Given the description of an element on the screen output the (x, y) to click on. 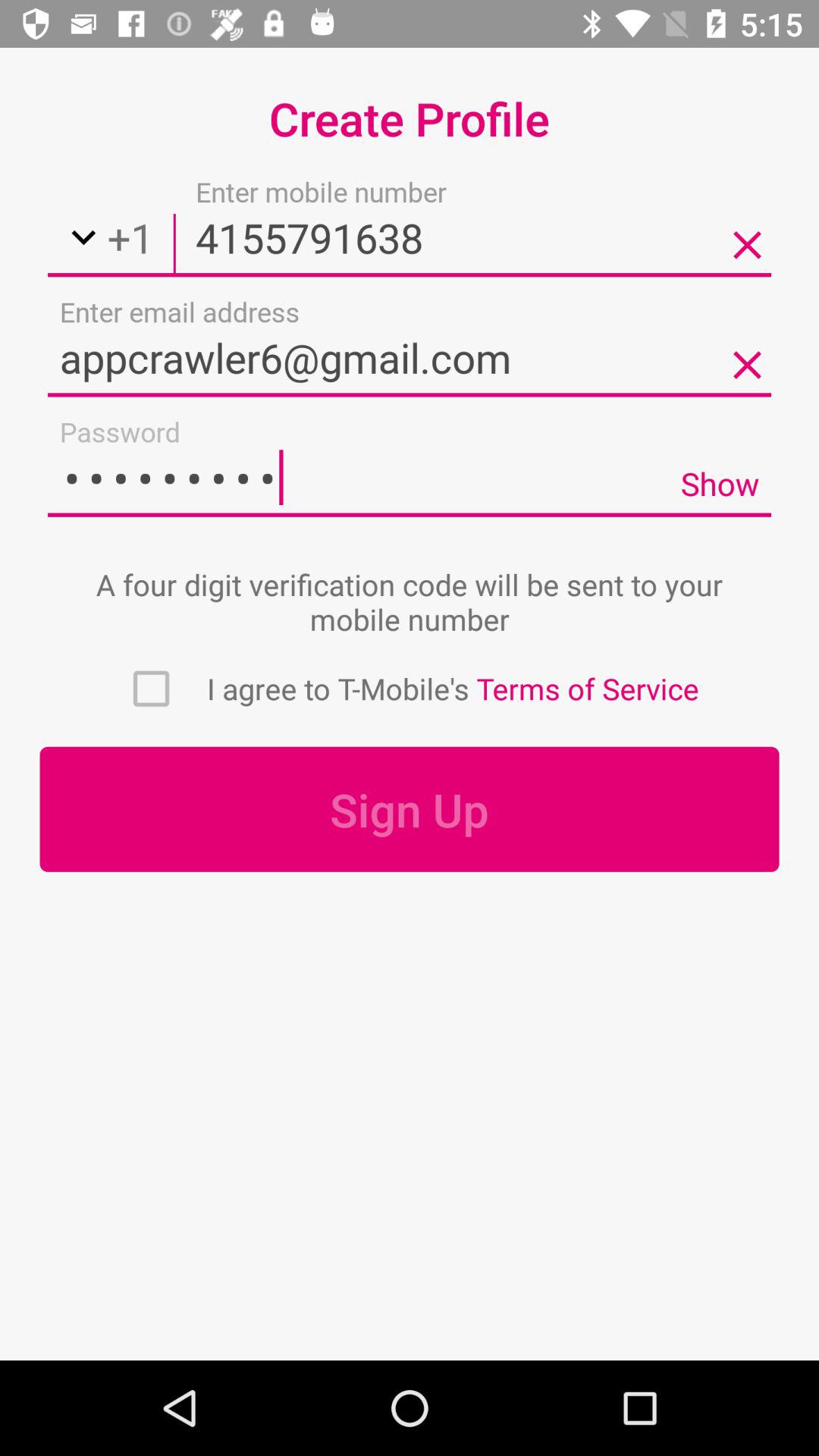
enter email address (409, 357)
